Given the description of an element on the screen output the (x, y) to click on. 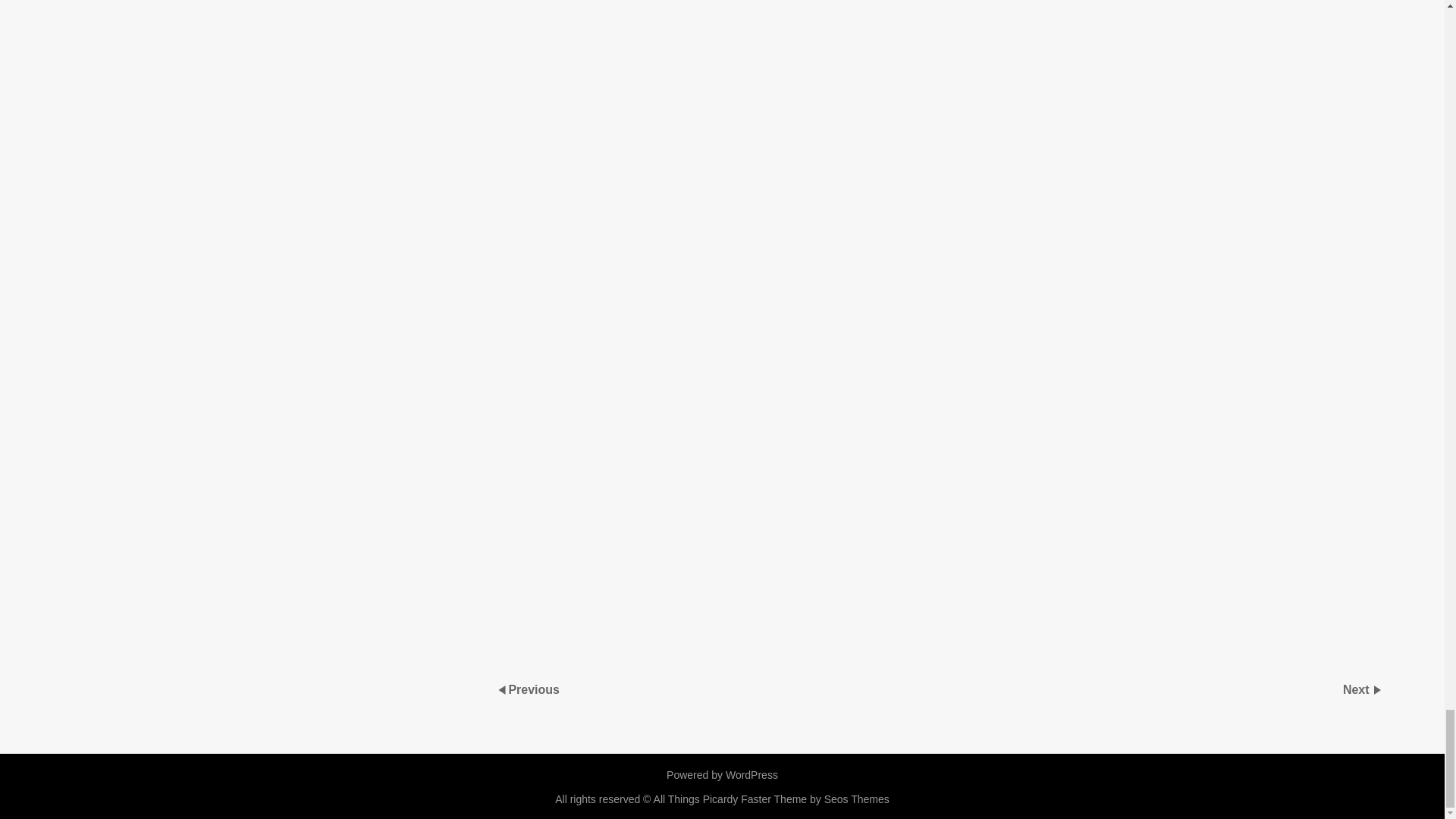
Seos Theme - Faster (815, 799)
Previous (533, 688)
Next (1357, 688)
